Given the description of an element on the screen output the (x, y) to click on. 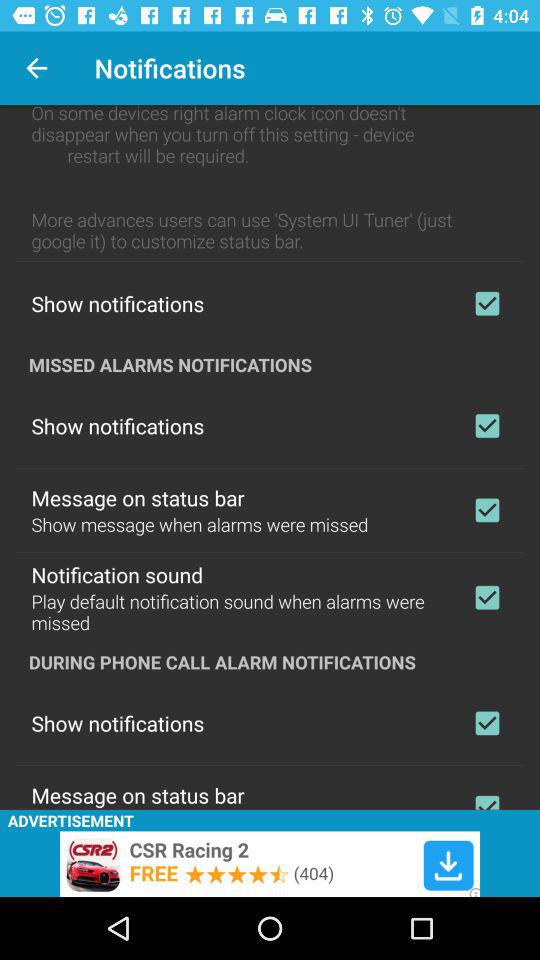
open link to advertisement (270, 864)
